Given the description of an element on the screen output the (x, y) to click on. 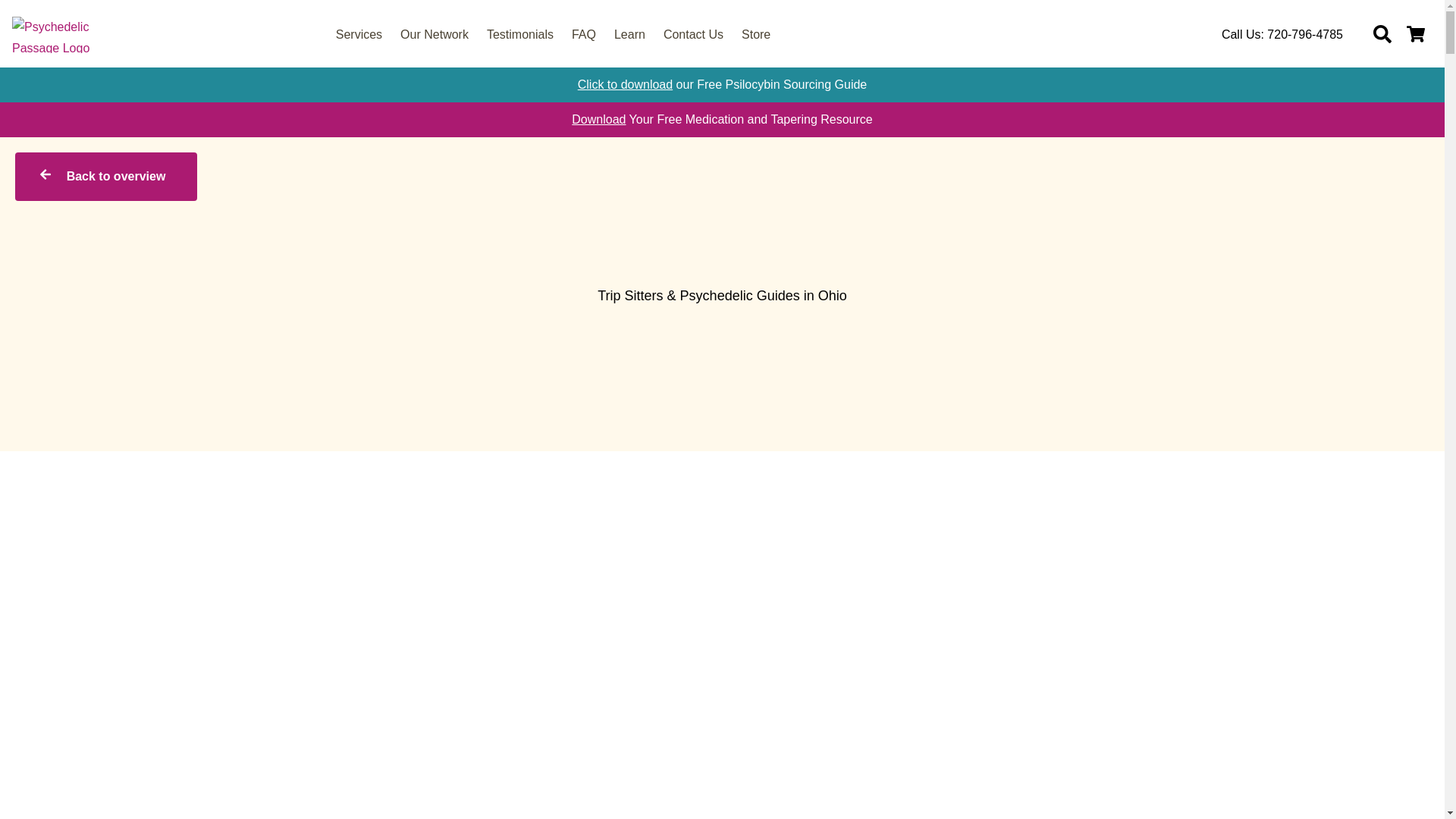
Call Us: 720-796-4785 (1281, 33)
Learn (629, 34)
Store (755, 34)
Testimonials (519, 34)
Our Network (434, 34)
Download (599, 119)
Services (358, 34)
Contact Us (692, 34)
Psychedelic Passage Logo (71, 34)
FAQ (583, 34)
Click to download (625, 83)
Back to overview (105, 176)
